Given the description of an element on the screen output the (x, y) to click on. 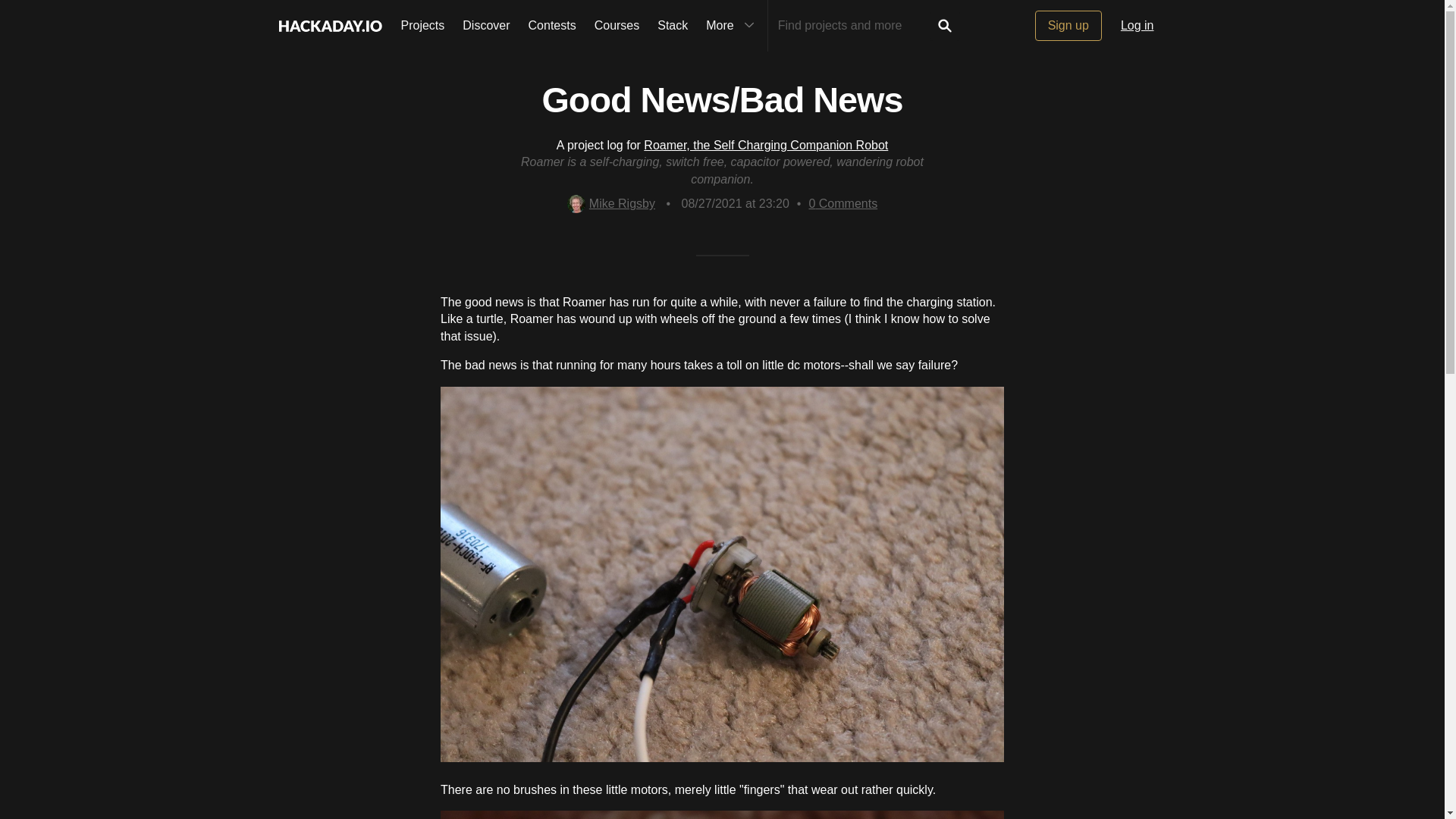
Discover (485, 25)
More (732, 25)
Search (944, 25)
Mike Rigsby (611, 203)
Log in (1137, 25)
Contests (552, 25)
0 Comments (842, 203)
Sign up (1068, 25)
Hackaday.io (329, 25)
Courses (617, 25)
Stack (672, 25)
Roamer, the Self Charging Companion Robot (765, 144)
Two characters minimum (853, 25)
Projects (421, 25)
3 years ago (735, 203)
